Given the description of an element on the screen output the (x, y) to click on. 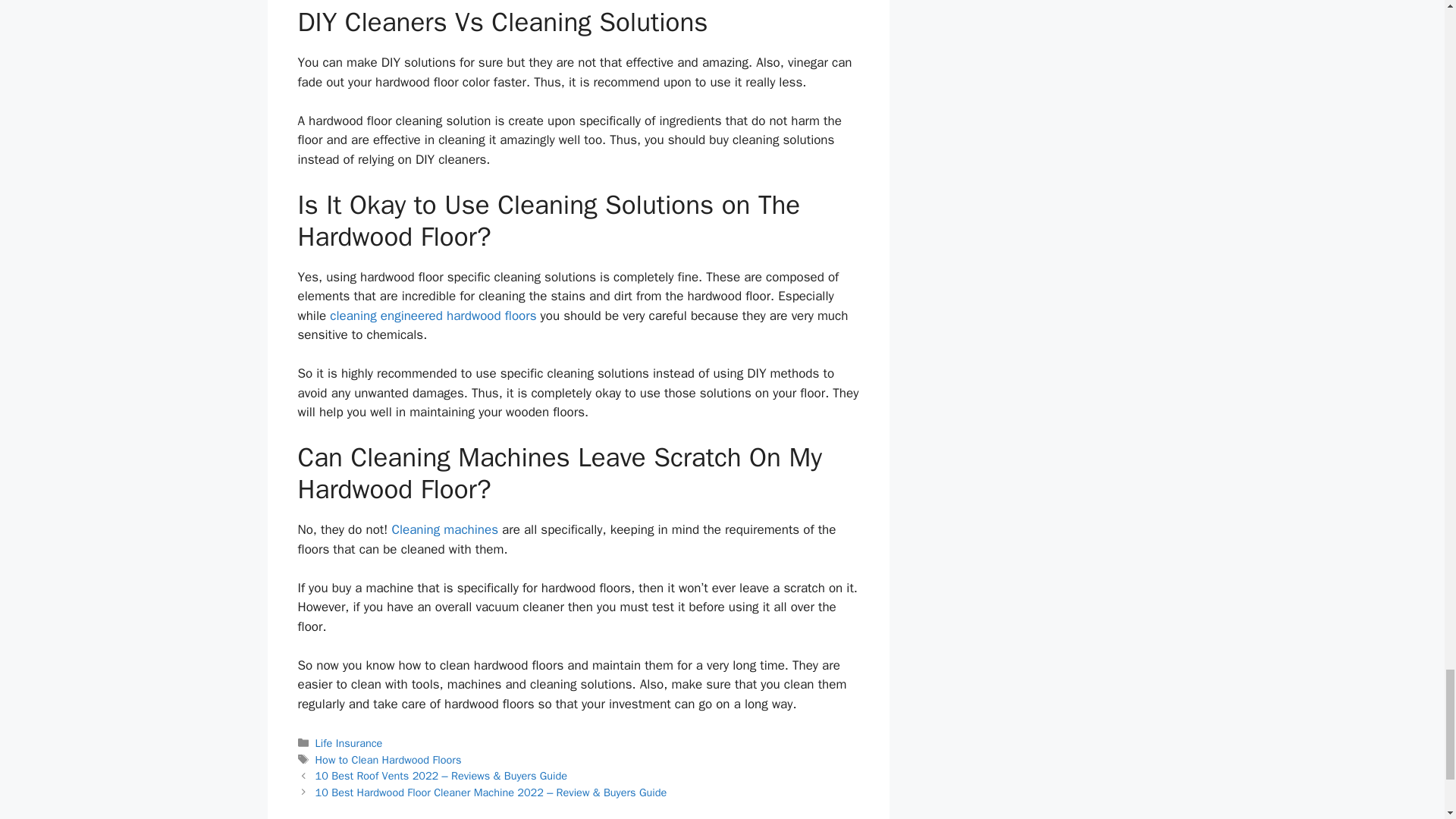
How to Clean Hardwood Floors (388, 759)
Life Insurance (348, 743)
cleaning engineered hardwood floors (432, 315)
Cleaning machines (444, 529)
